Given the description of an element on the screen output the (x, y) to click on. 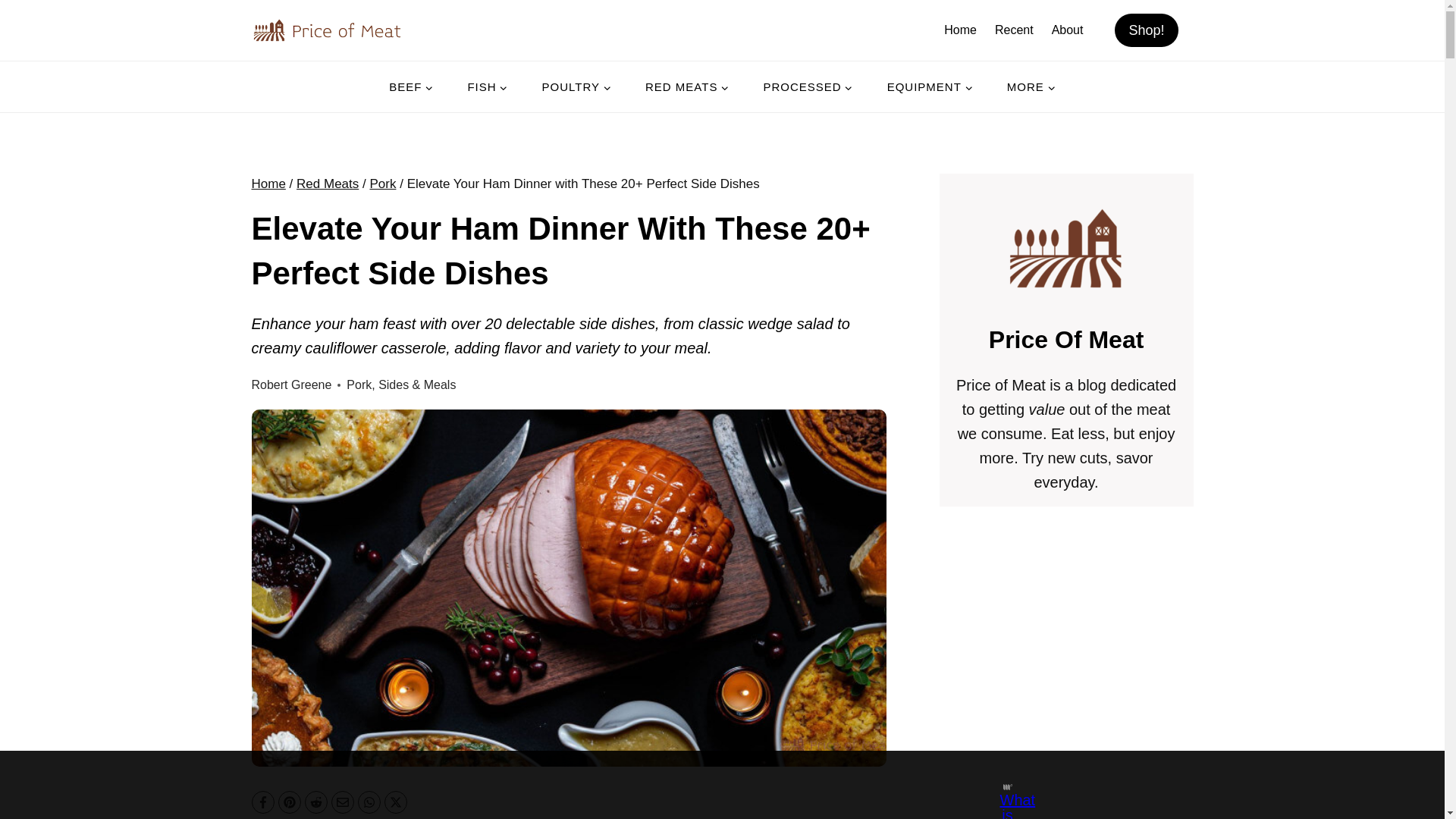
Recent (1013, 30)
RED MEATS (686, 86)
Home (959, 30)
PROCESSED (807, 86)
POULTRY (575, 86)
Shop! (1146, 29)
About (1067, 30)
BEEF (410, 86)
FISH (486, 86)
